Given the description of an element on the screen output the (x, y) to click on. 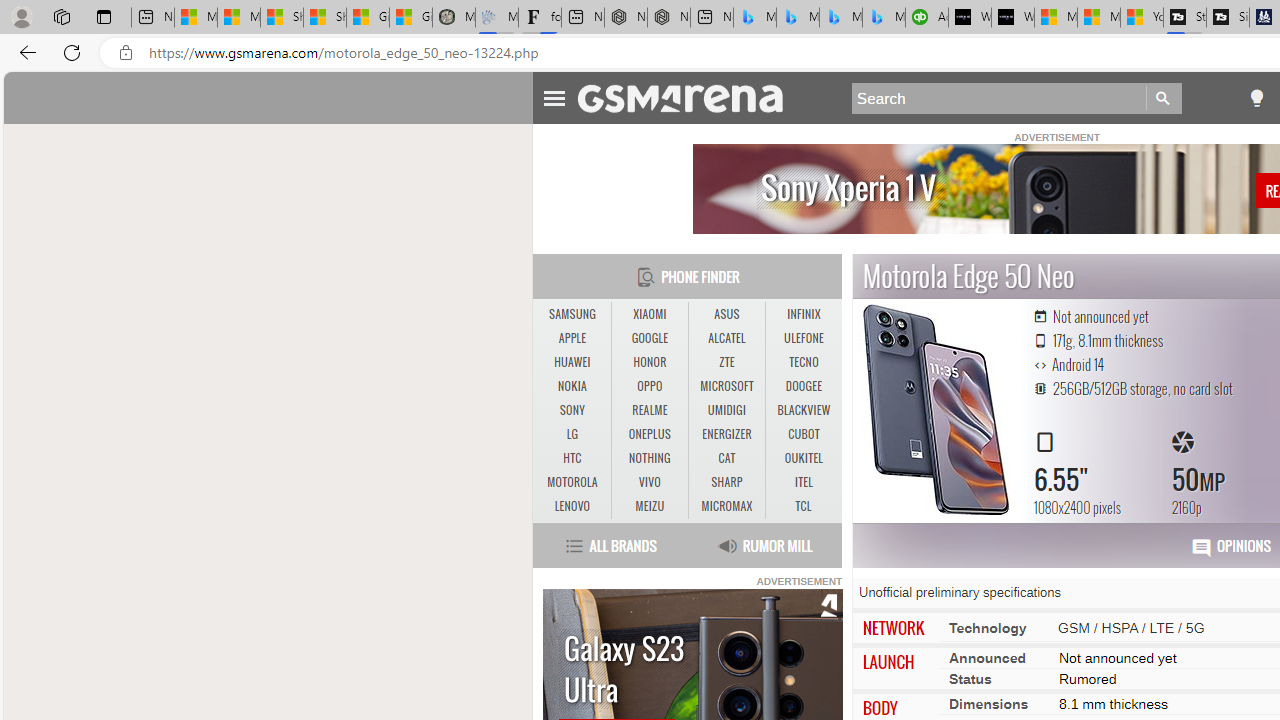
Dimensions (988, 704)
CUBOT (803, 434)
CUBOT (803, 434)
OUKITEL (803, 457)
Microsoft Bing Travel - Shangri-La Hotel Bangkok (883, 17)
ITEL (803, 482)
Microsoft Bing Travel - Stays in Bangkok, Bangkok, Thailand (798, 17)
Technology (987, 627)
SHARP (726, 482)
TECNO (803, 362)
HTC (571, 458)
SONY (571, 410)
LG (571, 434)
